Given the description of an element on the screen output the (x, y) to click on. 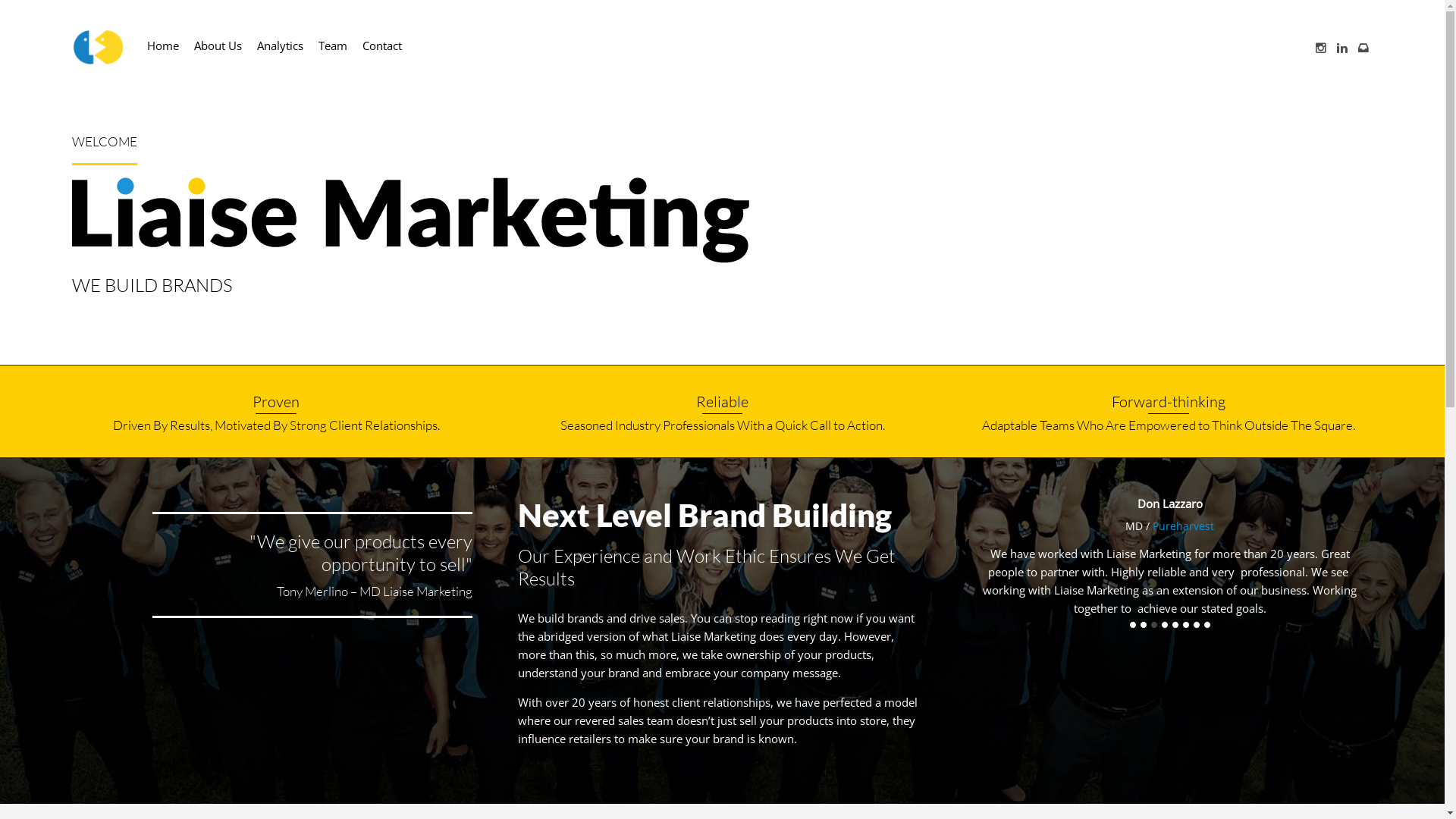
Contact Element type: text (381, 45)
Team Element type: text (332, 45)
2 Element type: text (1143, 624)
6 Element type: text (1185, 624)
3 Element type: text (1153, 624)
Analytics Element type: text (279, 45)
4 Element type: text (1164, 624)
7 Element type: text (1196, 624)
1 Element type: text (1132, 624)
Home Element type: text (162, 45)
LinkedIn Element type: hover (1341, 47)
Instagram Element type: hover (1320, 47)
Webmail Element type: hover (1363, 47)
8 Element type: text (1207, 624)
Liaise Marketing | FMCG Grocery Brokerage Company Element type: hover (98, 46)
5 Element type: text (1175, 624)
About Us Element type: text (217, 45)
Unicharm Australasia Element type: text (1185, 525)
